Given the description of an element on the screen output the (x, y) to click on. 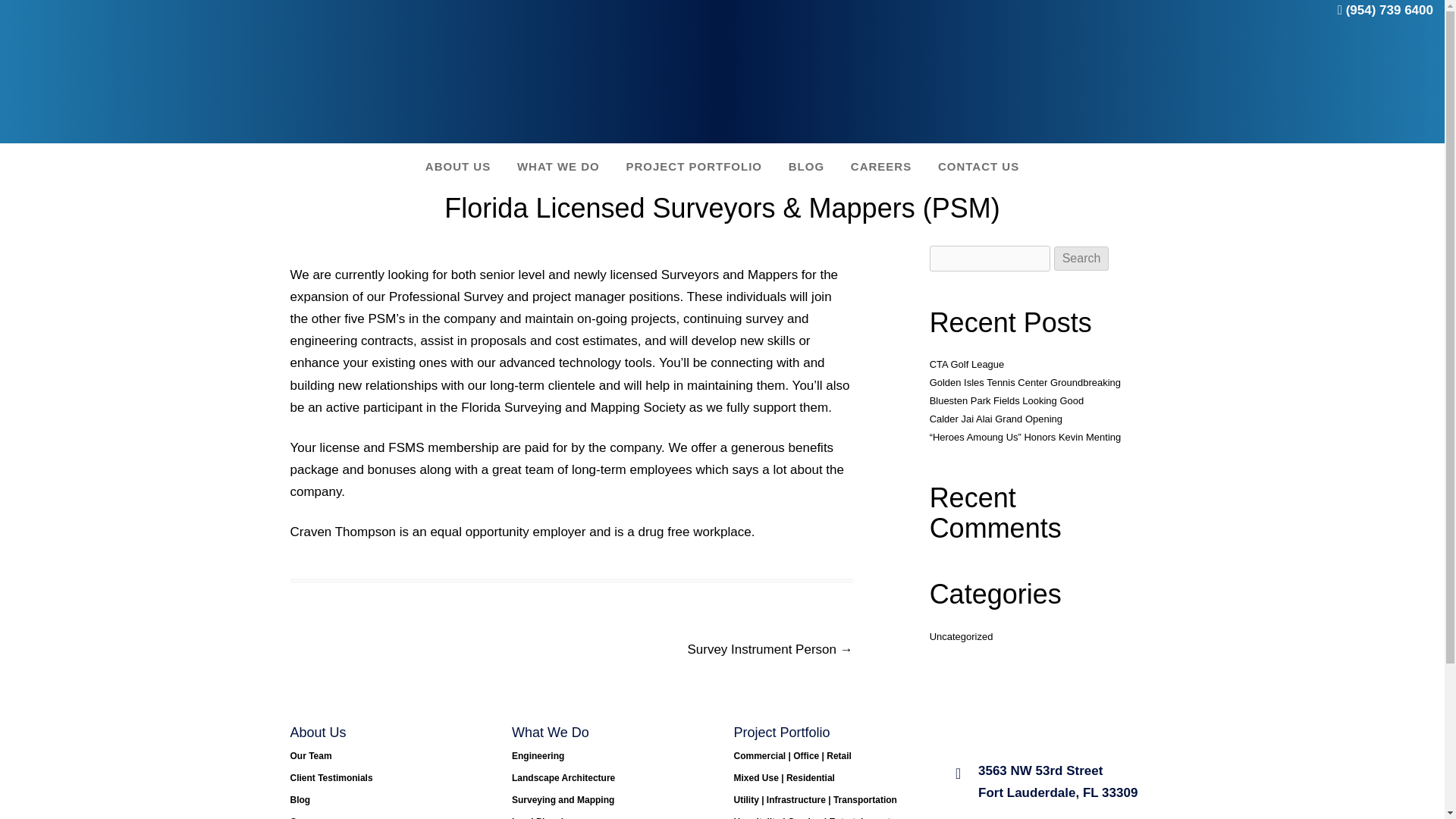
CTA Golf League (967, 364)
WHAT WE DO (558, 165)
BLOG (806, 165)
About Us (317, 732)
Uncategorized (961, 636)
CONTACT US (978, 165)
PROJECT PORTFOLIO (695, 165)
Bluesten Park Fields Looking Good (1007, 400)
What We Do (558, 165)
Client Testimonials (330, 777)
Search (1081, 258)
About Us (458, 165)
CAREERS (881, 165)
Blog (299, 799)
Engineering (538, 756)
